Given the description of an element on the screen output the (x, y) to click on. 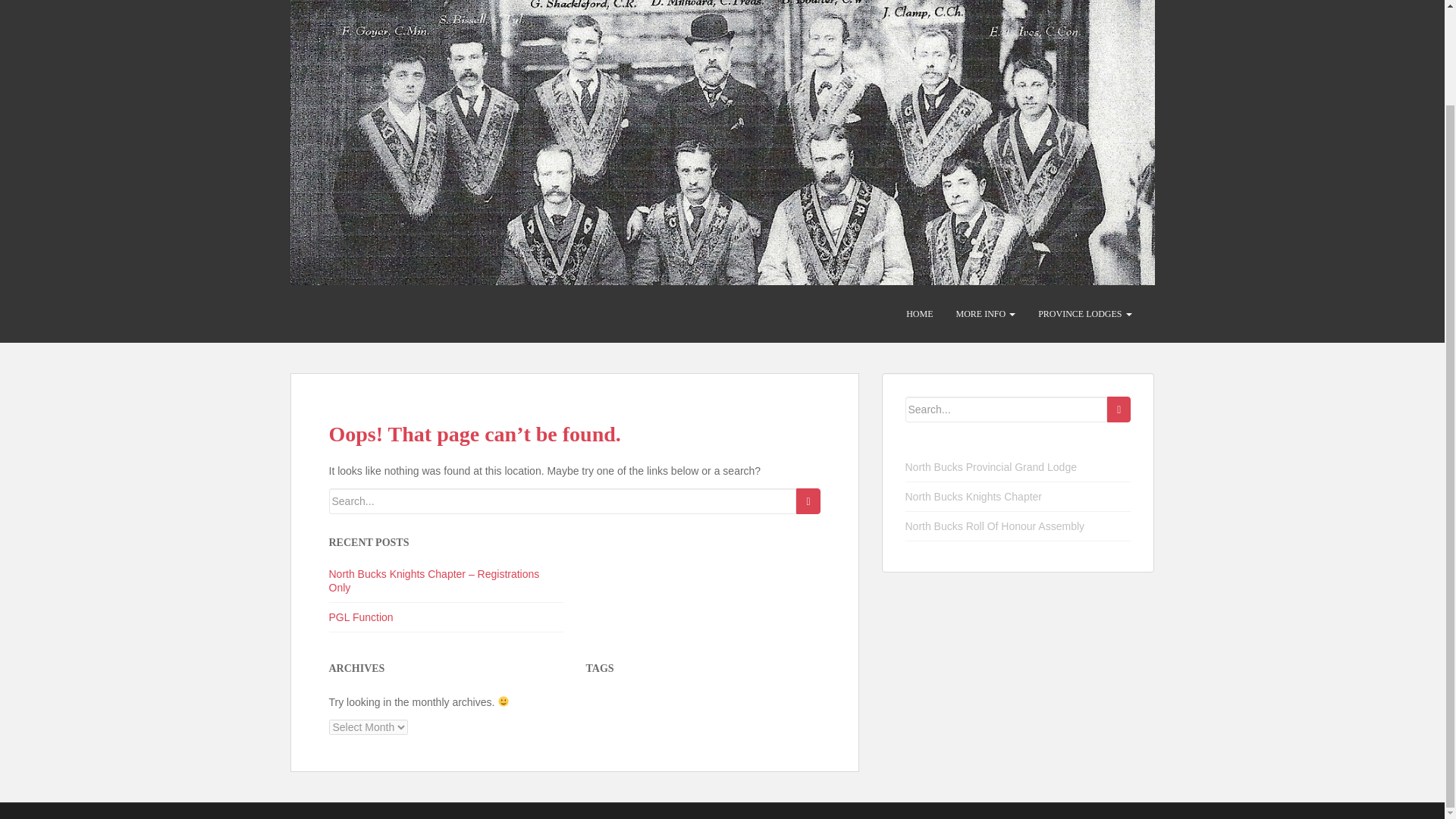
PGL Function (361, 616)
PROVINCE LODGES (1084, 314)
North Bucks Provincial Grand Lodge (991, 467)
More Info (984, 314)
Go (807, 501)
MORE INFO (984, 314)
North Bucks Knights Chapter (973, 496)
Province Lodges (1084, 314)
Go (1118, 409)
North Bucks Roll Of Honour Assembly (994, 526)
